Given the description of an element on the screen output the (x, y) to click on. 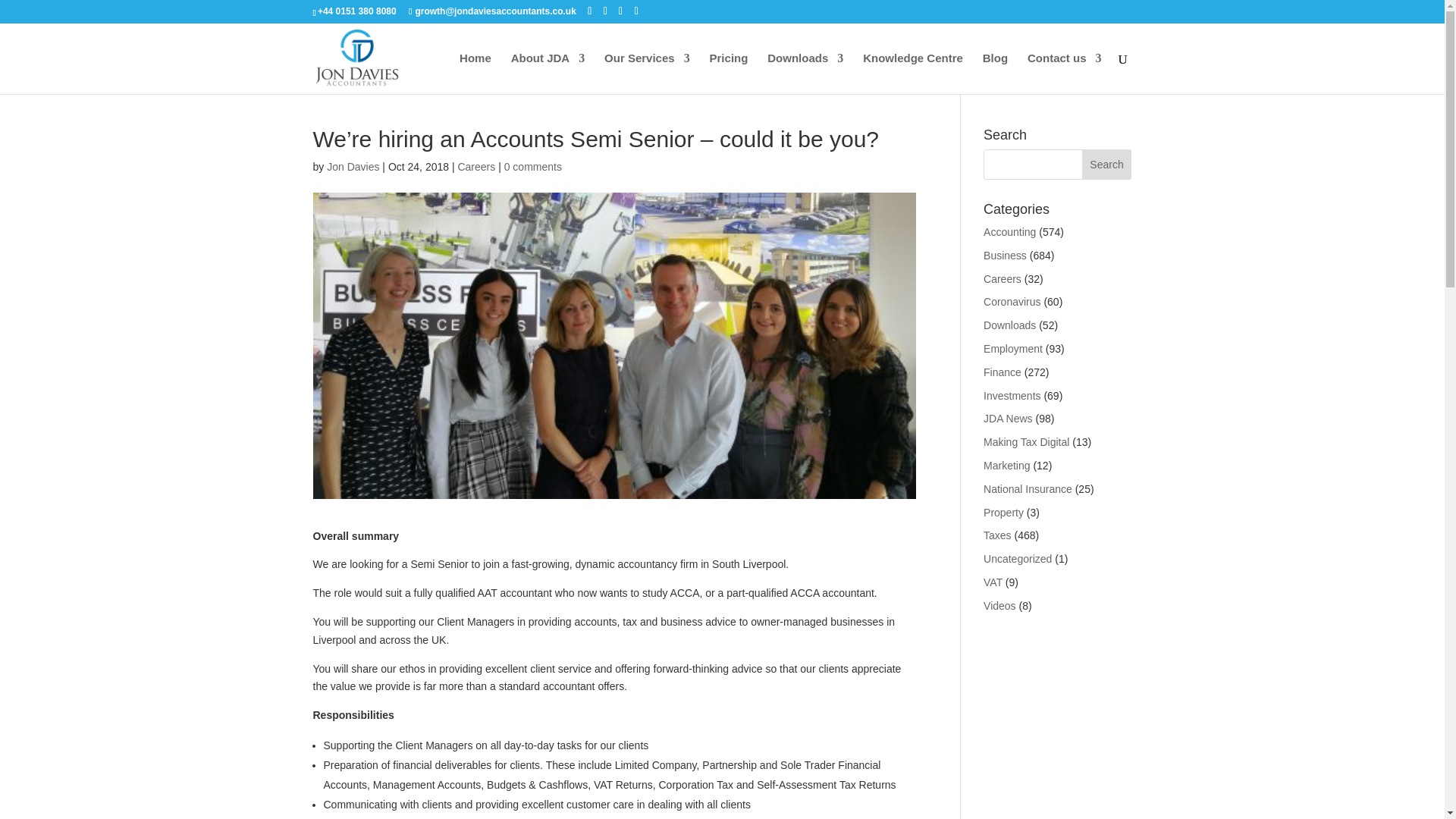
Our Services (647, 73)
Downloads (805, 73)
Knowledge Centre (912, 73)
About JDA (548, 73)
Posts by Jon Davies (352, 166)
Pricing (729, 73)
Search (1106, 164)
